Given the description of an element on the screen output the (x, y) to click on. 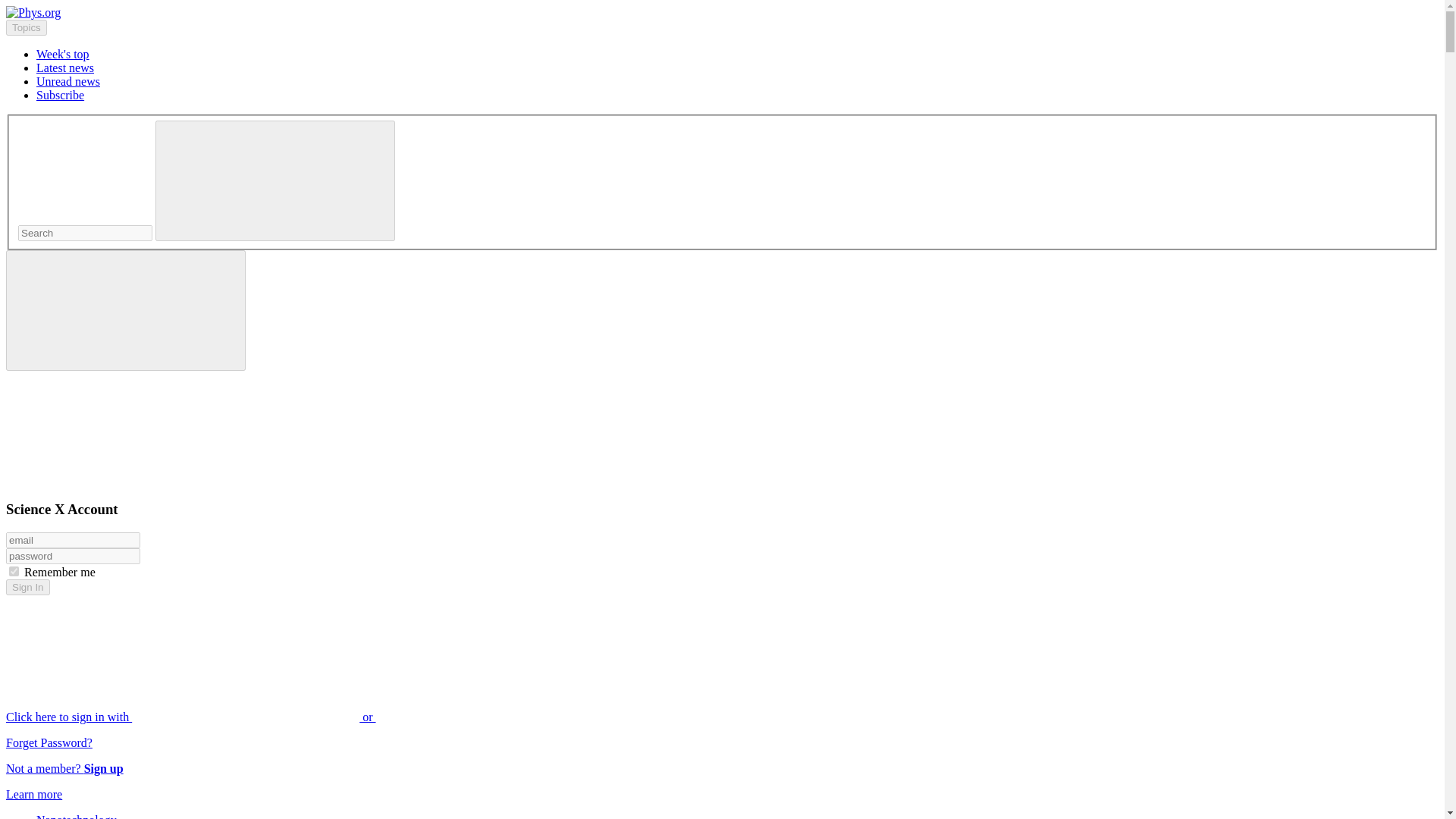
on (13, 571)
Nanotechnology (76, 816)
Forget Password? (49, 742)
Not a member? Sign up (64, 768)
Learn more (33, 793)
Click here to sign in with or (304, 716)
Week's top (62, 53)
Subscribe (60, 94)
Latest news (65, 67)
Topics (25, 27)
Unread news (68, 81)
Sign In (27, 587)
